Given the description of an element on the screen output the (x, y) to click on. 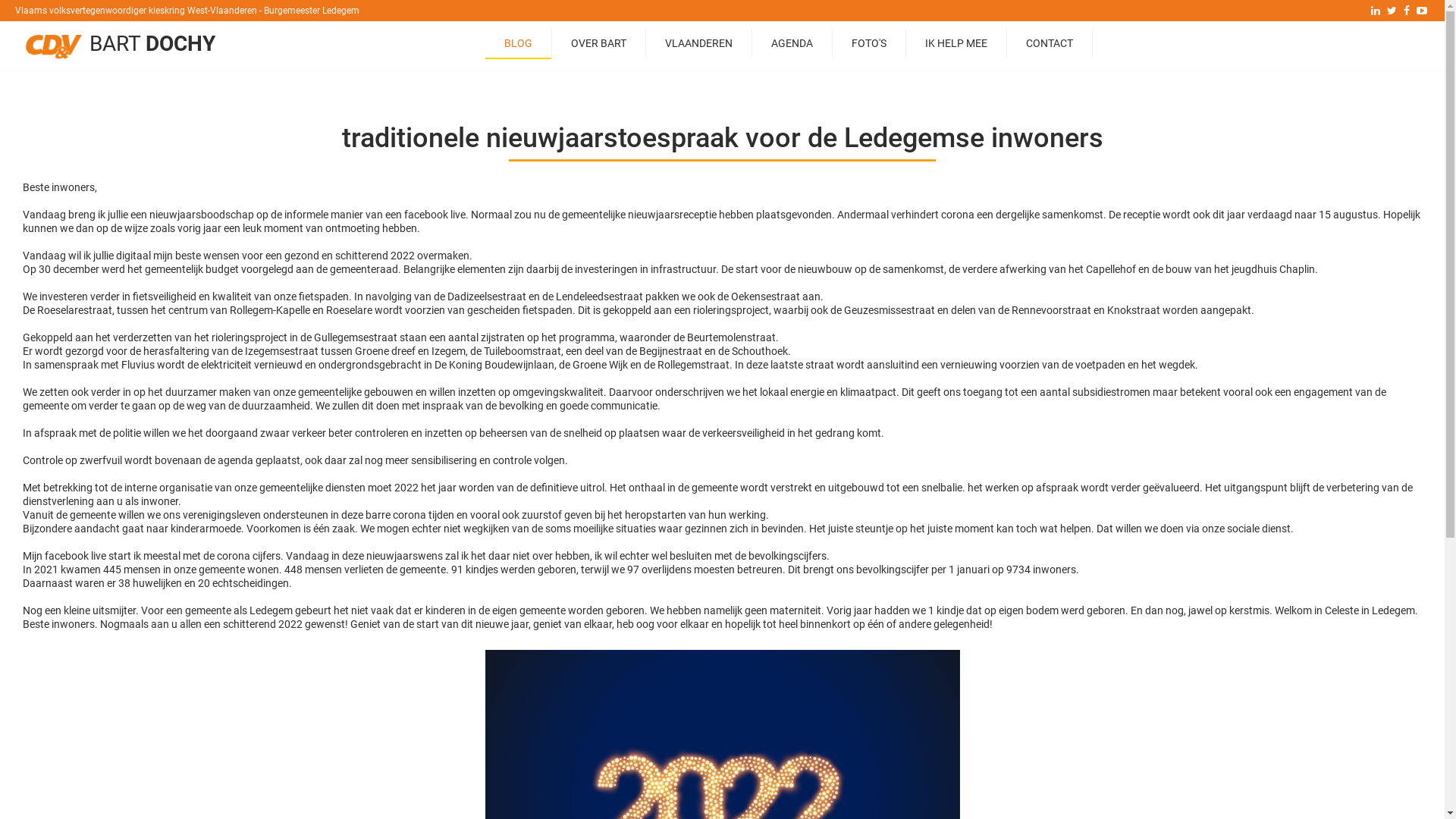
cd&v Element type: hover (53, 46)
AGENDA Element type: text (791, 42)
CONTACT Element type: text (1049, 42)
FOTO'S Element type: text (868, 42)
BART DOCHY Element type: text (152, 43)
Bart op twitter Element type: hover (1391, 10)
BLOG Element type: text (518, 43)
OVER BART Element type: text (598, 42)
Bart op Youtube Element type: hover (1421, 10)
Bart op Linkedin Element type: hover (1375, 10)
IK HELP MEE Element type: text (956, 42)
VLAANDEREN Element type: text (698, 42)
Bart op Facebook Element type: hover (1406, 10)
